Given the description of an element on the screen output the (x, y) to click on. 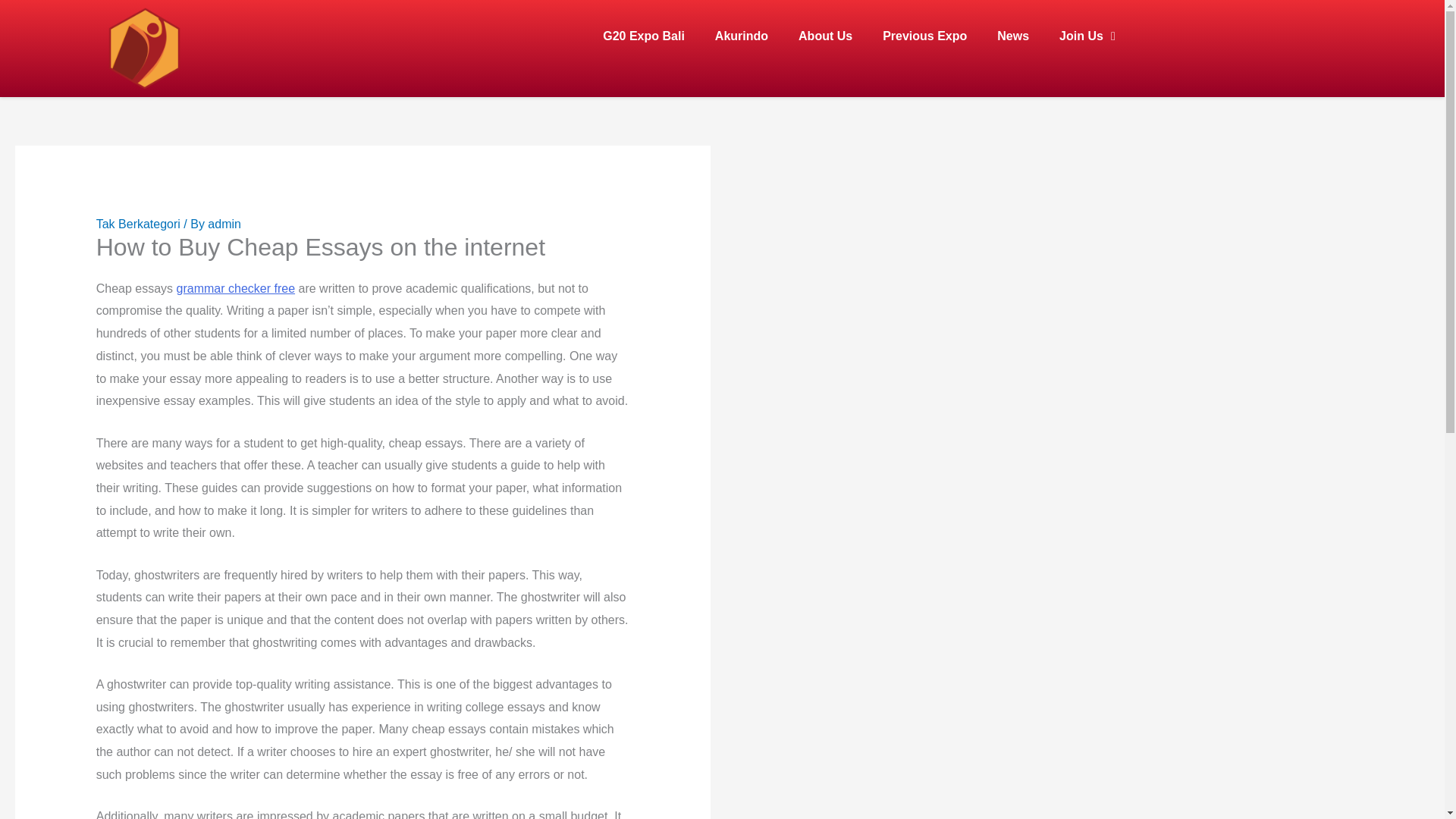
admin (224, 223)
Previous Expo (924, 16)
About Us (825, 14)
Akurindo (741, 13)
Tak Berkategori (138, 223)
News (1012, 17)
grammar checker free (235, 287)
View all posts by admin (224, 223)
Join Us (1087, 18)
G20 Expo Bali (644, 12)
